Given the description of an element on the screen output the (x, y) to click on. 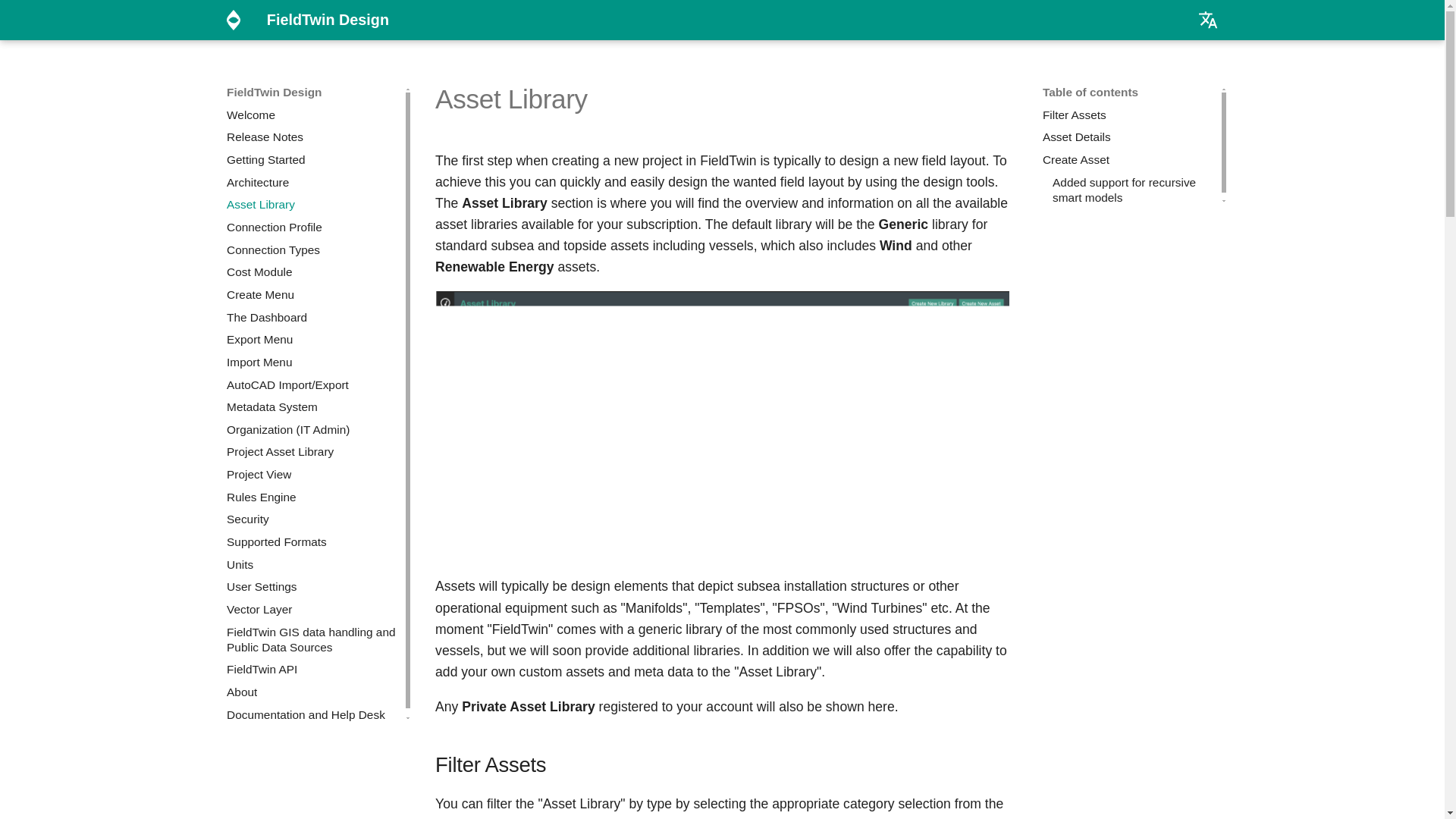
Rules Engine (312, 497)
Import Menu (312, 362)
Connection Types (312, 249)
Project View (312, 474)
Welcome (312, 114)
Supported Formats (312, 541)
Cost Module (312, 272)
Release Notes (312, 136)
Export Menu (312, 339)
Getting Started (312, 159)
